Given the description of an element on the screen output the (x, y) to click on. 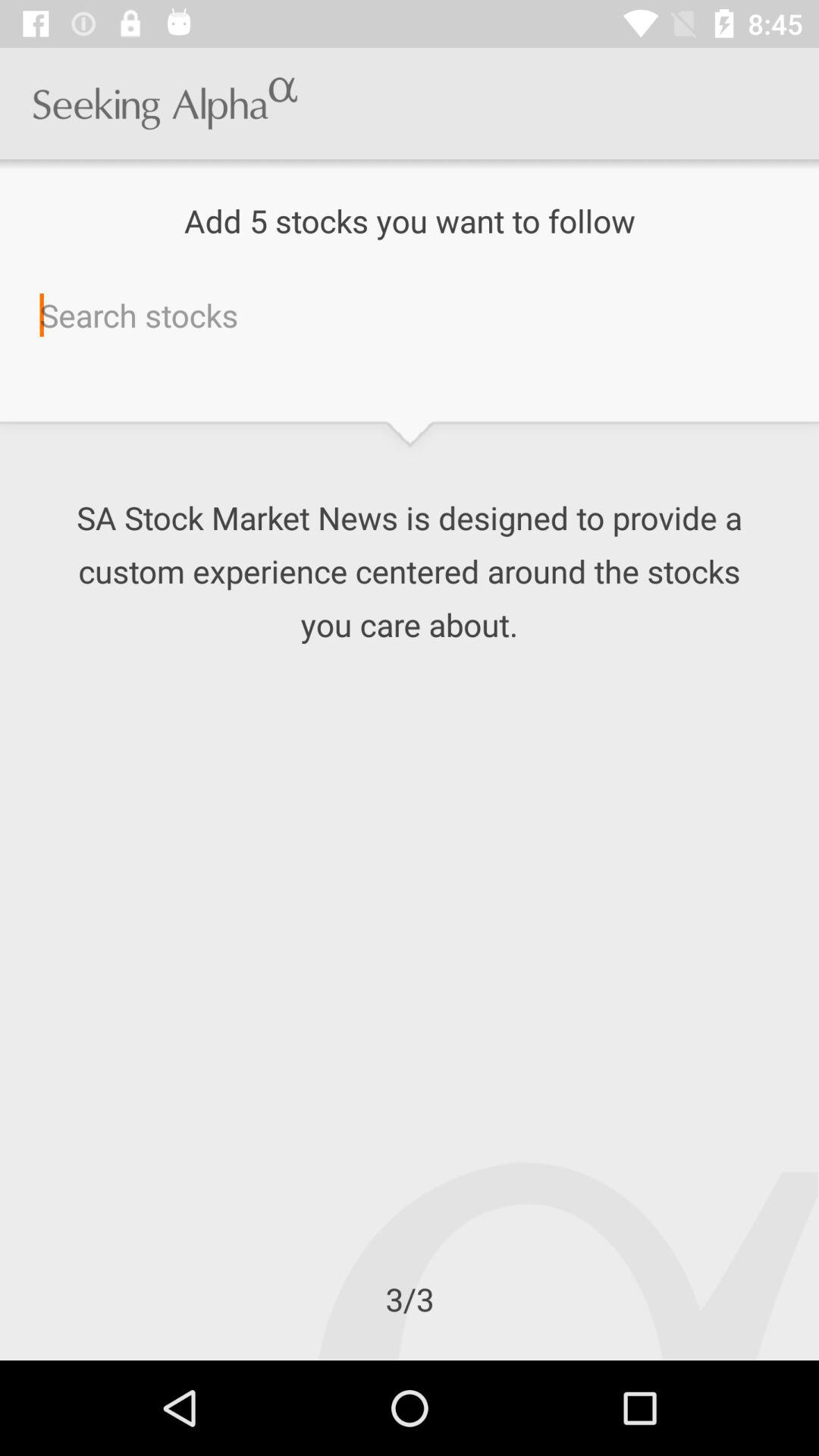
search for stocks (409, 315)
